Given the description of an element on the screen output the (x, y) to click on. 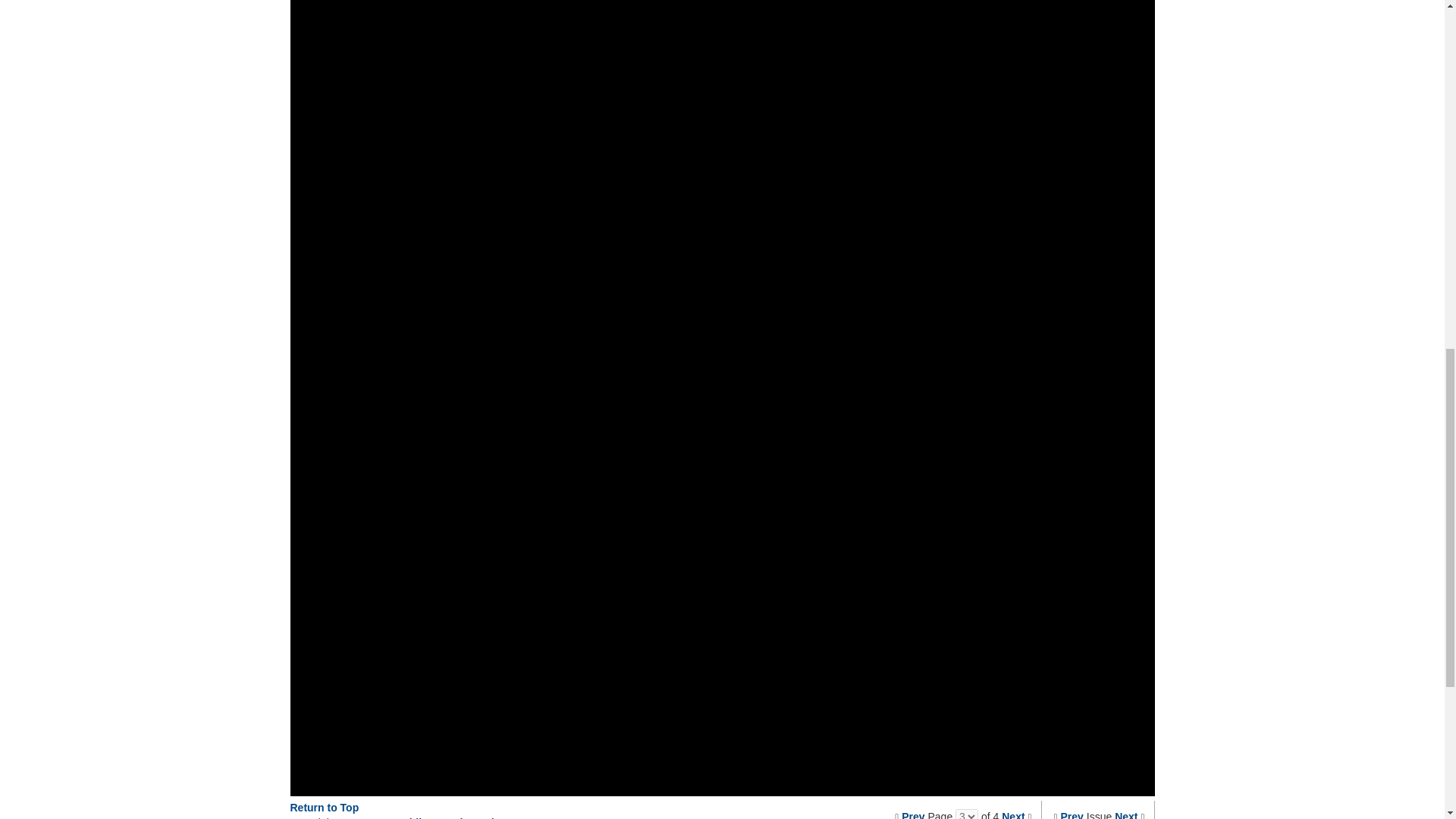
Next (1013, 814)
Prev (912, 814)
Next (1126, 814)
Return to Top (323, 807)
Public Domain Mark 1.0 (455, 817)
Prev (1072, 814)
